Given the description of an element on the screen output the (x, y) to click on. 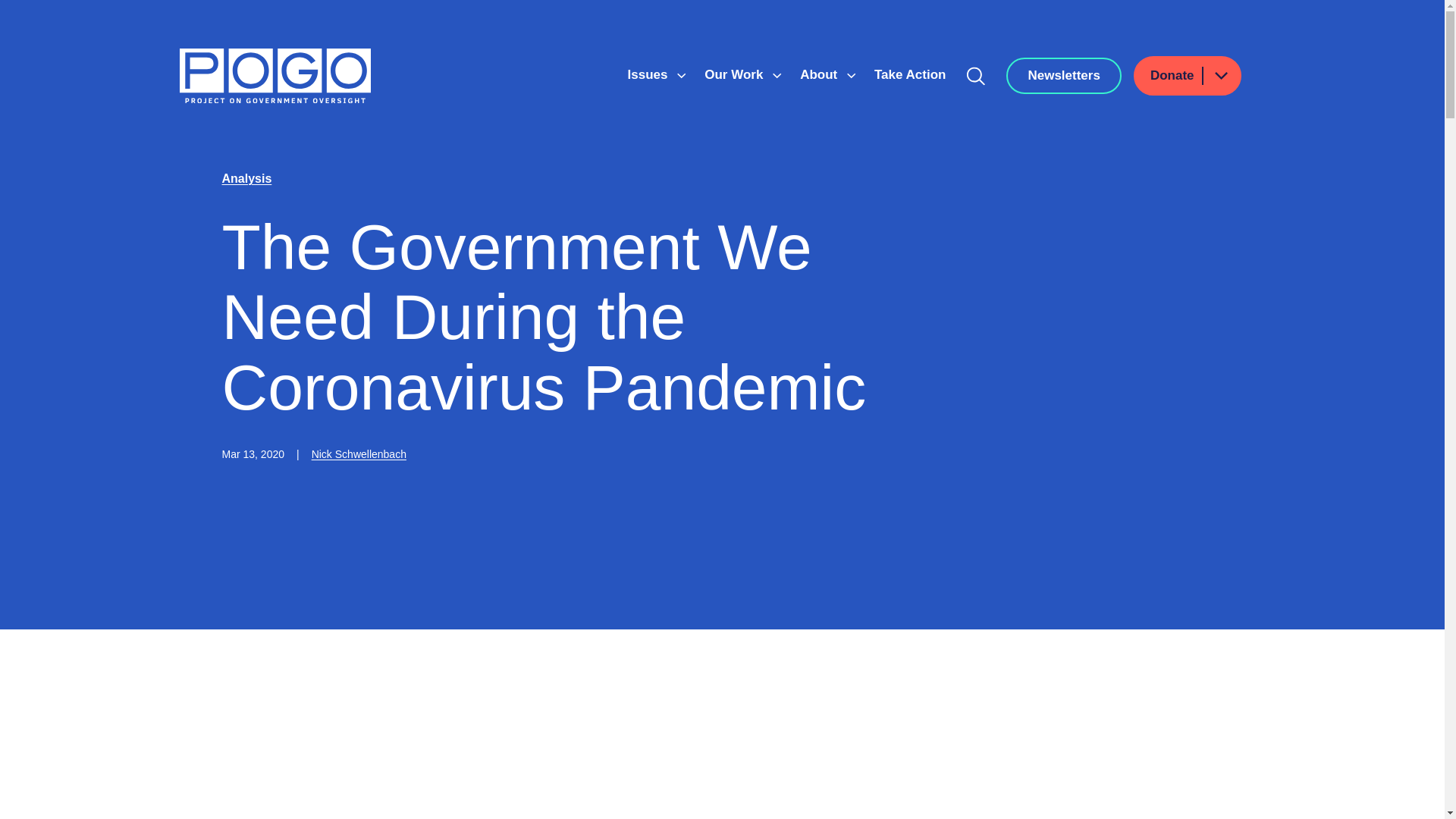
About (820, 74)
Newsletters (1063, 75)
Our Work (735, 74)
Home (274, 75)
Issues (649, 74)
Search (976, 75)
Show submenu for Our Work (777, 75)
Show submenu for Issues (681, 75)
Donate (1187, 75)
Show submenu for About (851, 75)
